Given the description of an element on the screen output the (x, y) to click on. 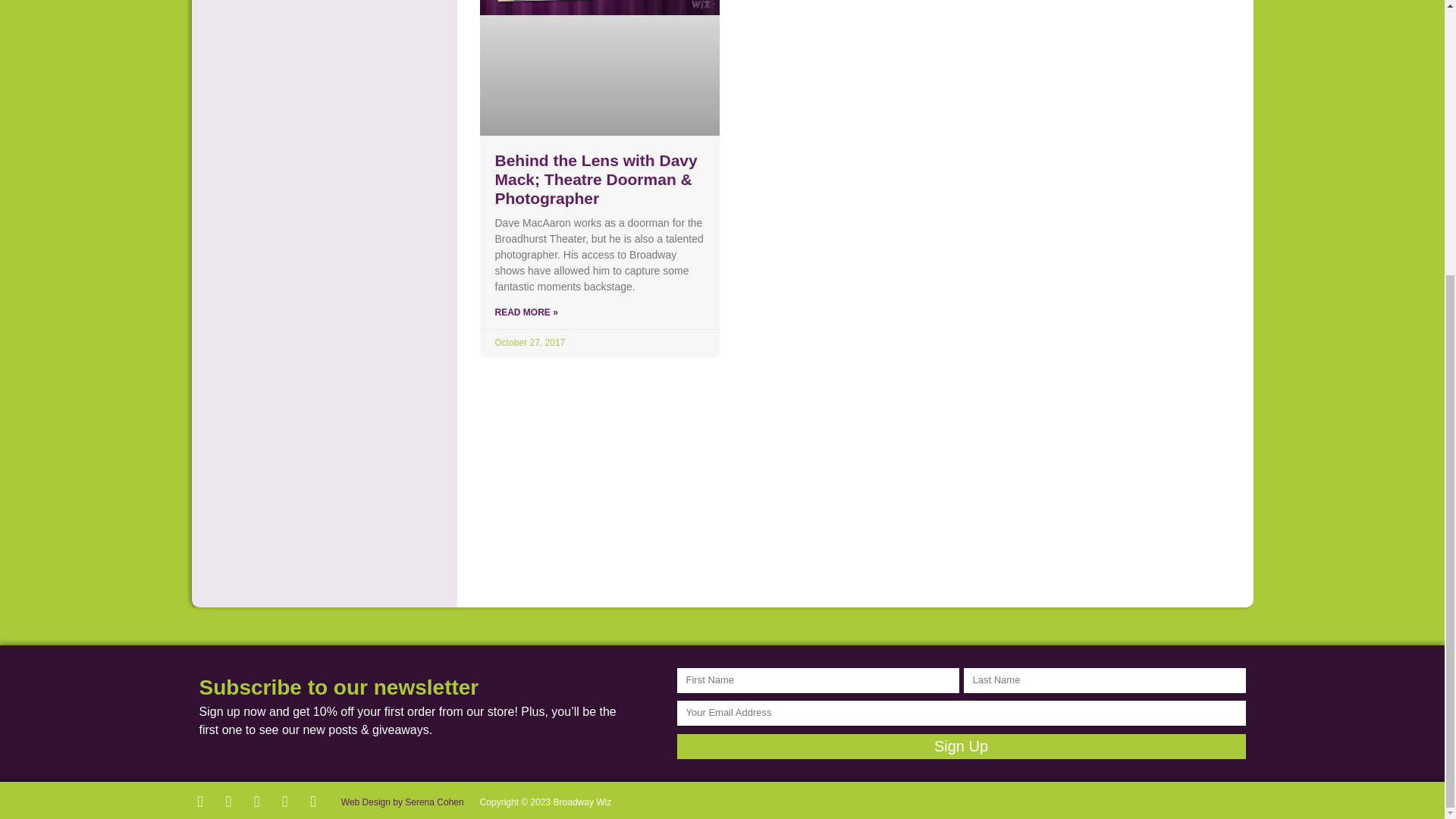
Sign Up (960, 746)
 Web Design by Serena Cohen (400, 794)
